Given the description of an element on the screen output the (x, y) to click on. 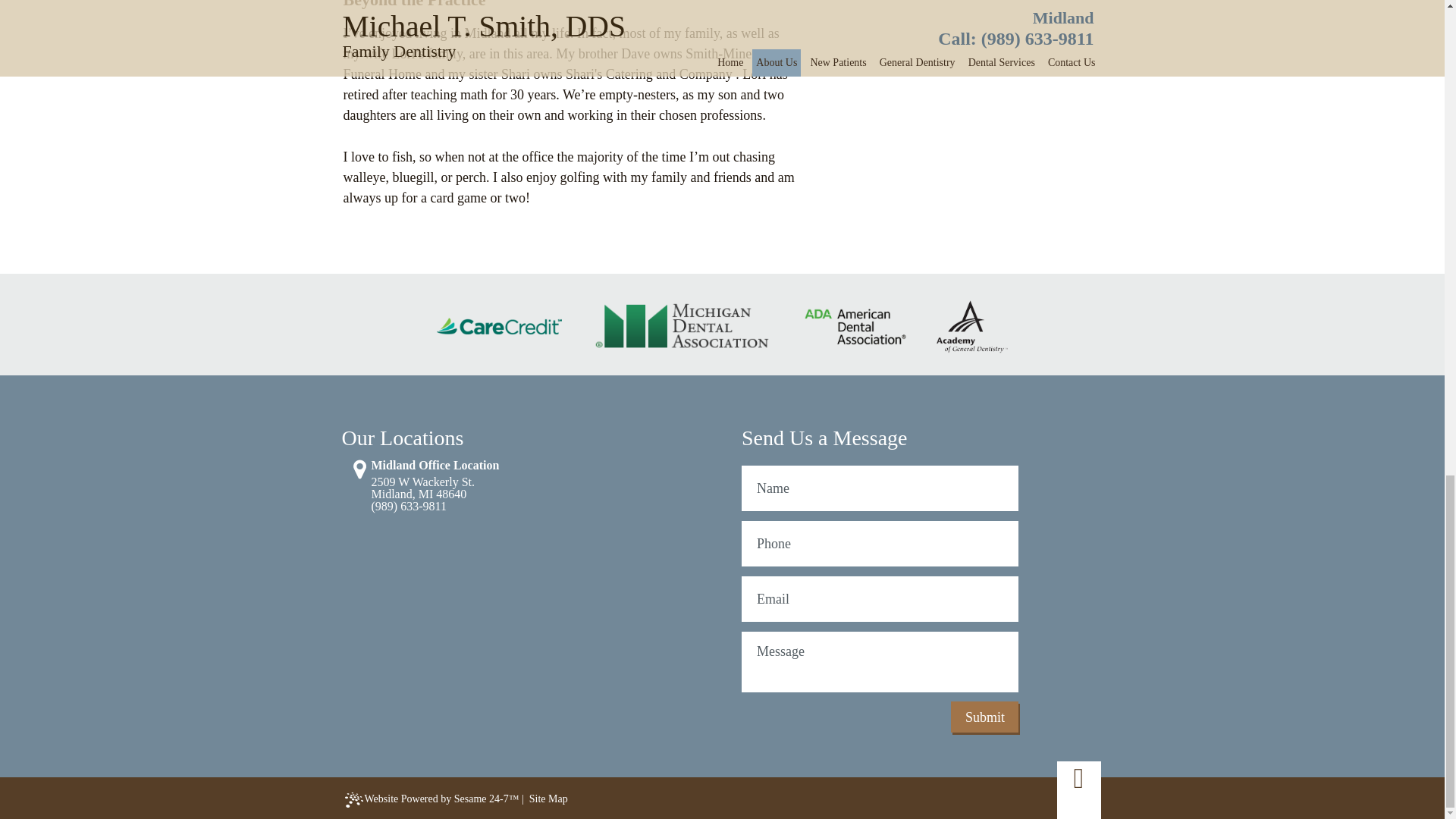
Submit (983, 716)
Site Map (548, 798)
Submit (983, 716)
Midland Office Location (450, 487)
